Given the description of an element on the screen output the (x, y) to click on. 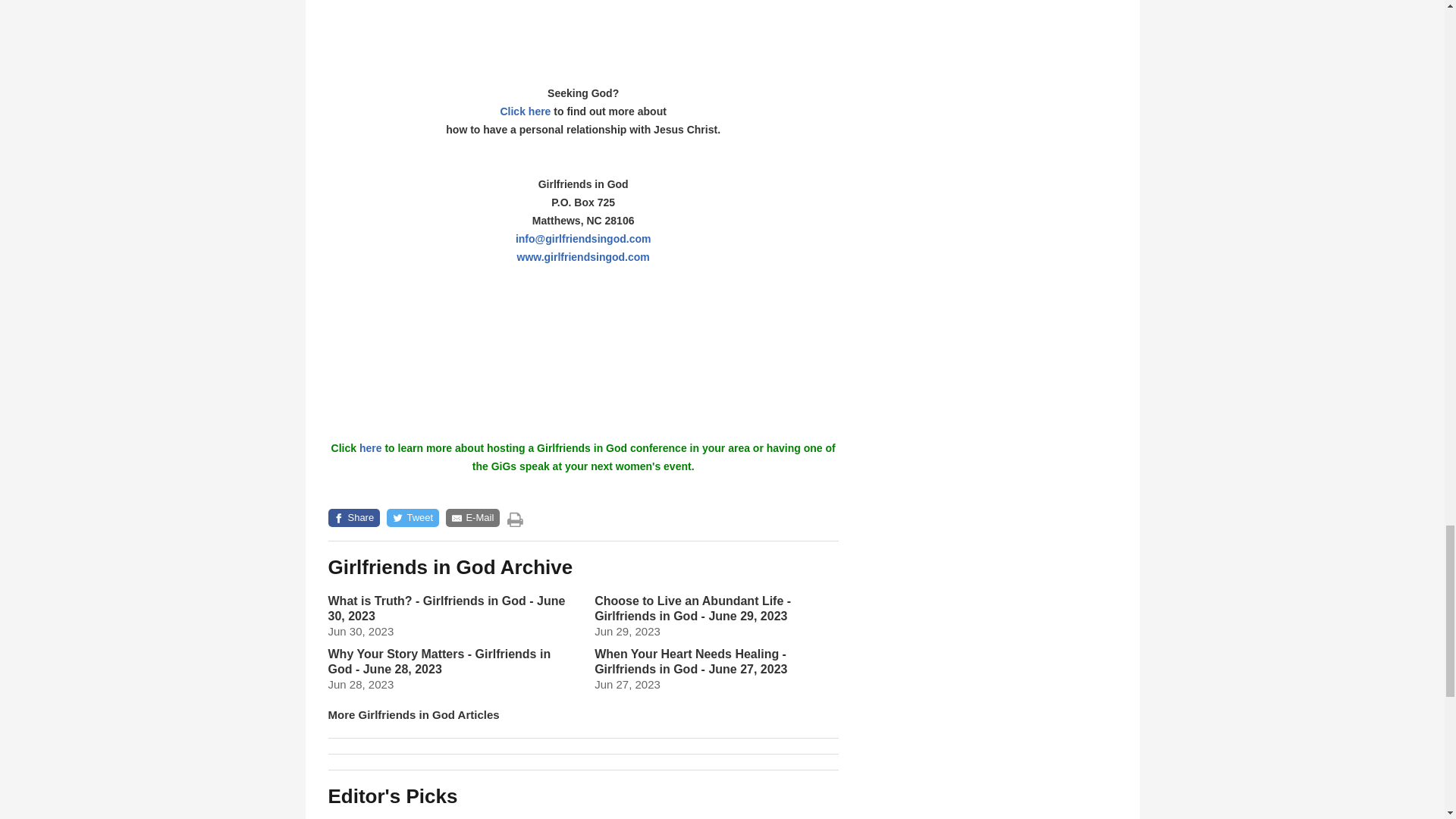
10 Exciting Christian Suspense Authors You Should Read Now (760, 816)
